Given the description of an element on the screen output the (x, y) to click on. 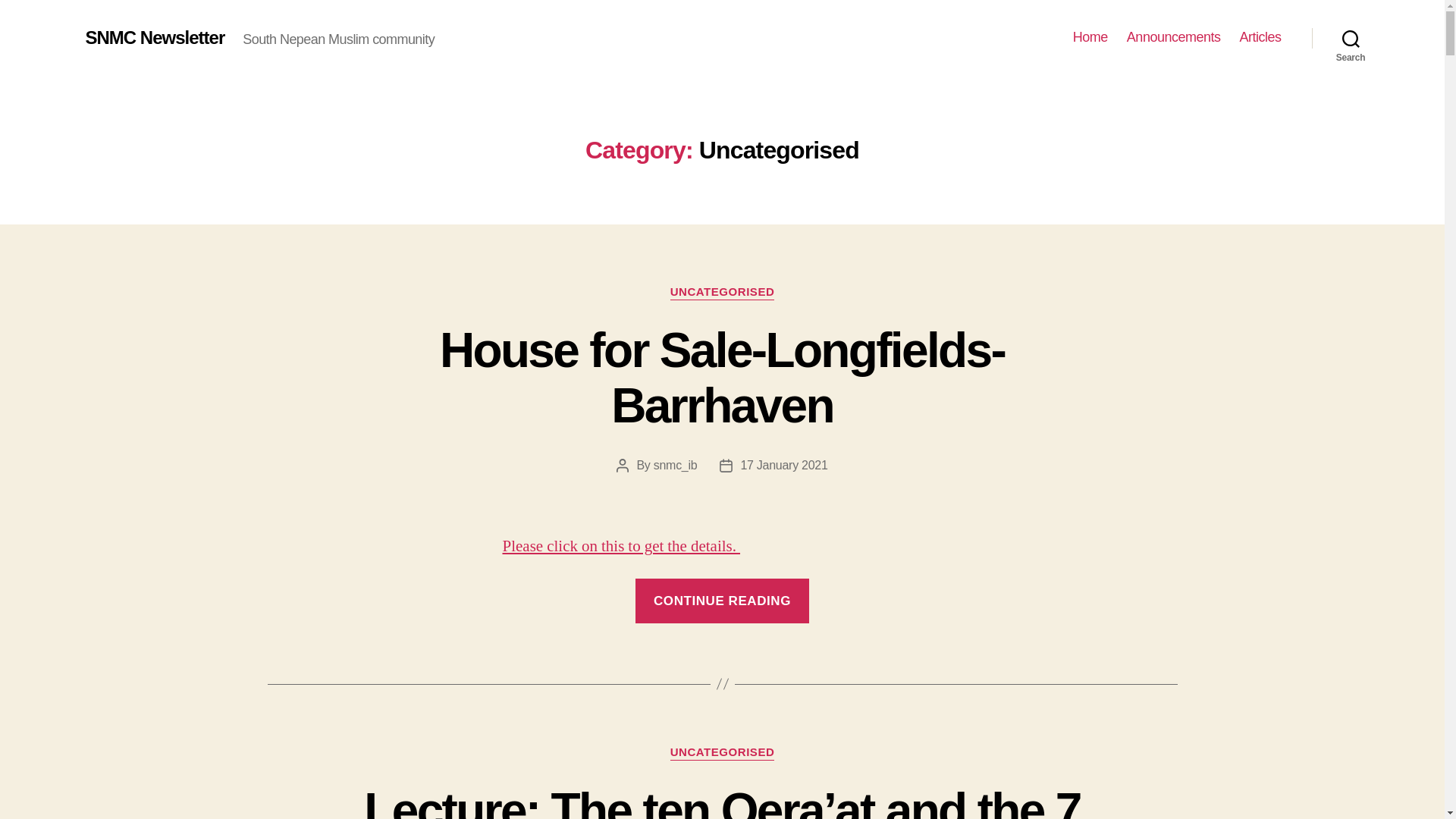
17 January 2021 (783, 464)
Please click on this to get the details.  (620, 546)
UNCATEGORISED (721, 752)
House for Sale-Longfields-Barrhaven (721, 377)
SNMC Newsletter (154, 37)
Announcements (1173, 37)
Articles (1260, 37)
Home (1090, 37)
Search (1350, 37)
UNCATEGORISED (721, 292)
